Given the description of an element on the screen output the (x, y) to click on. 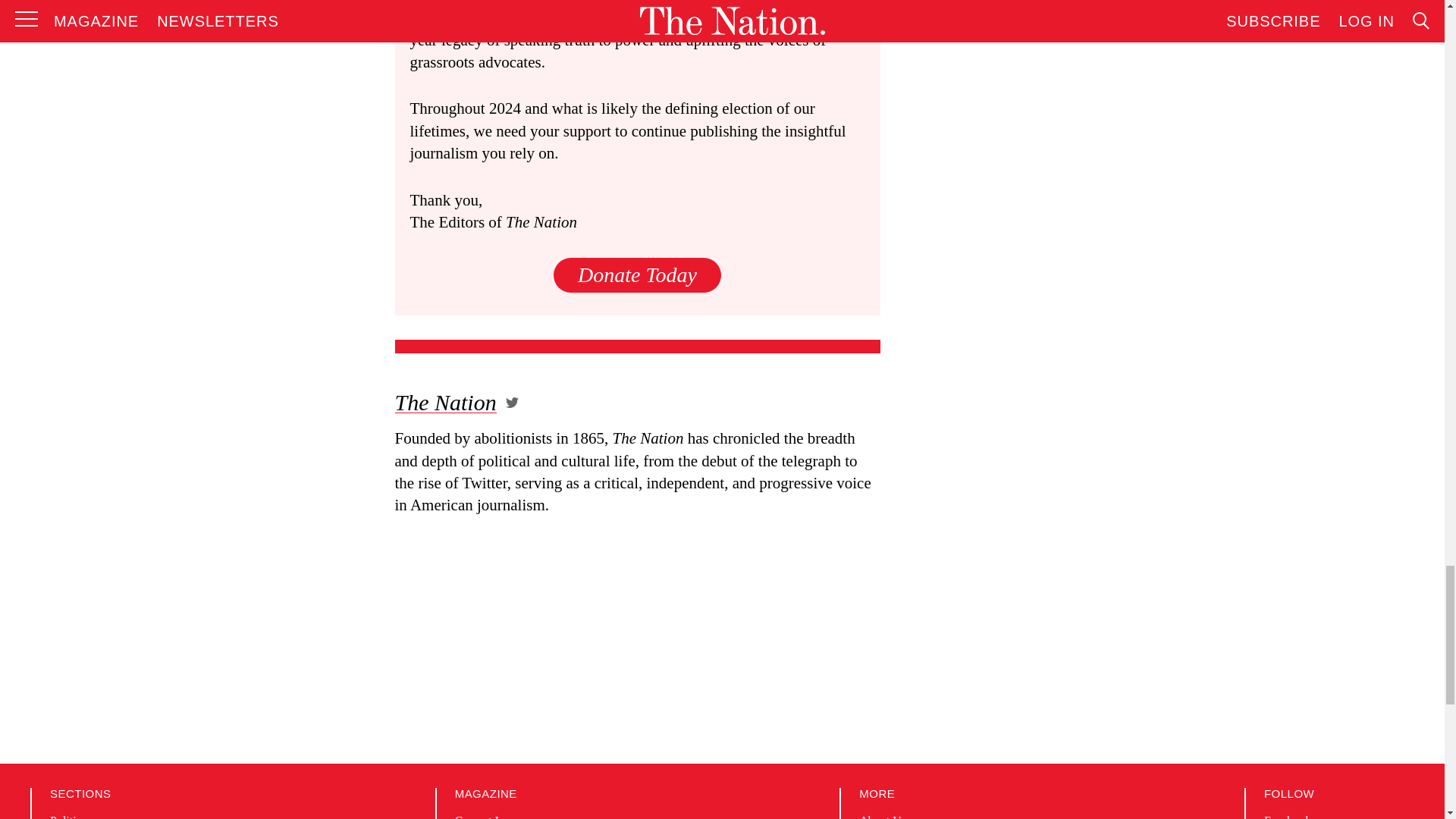
Donate Today (636, 274)
